Given the description of an element on the screen output the (x, y) to click on. 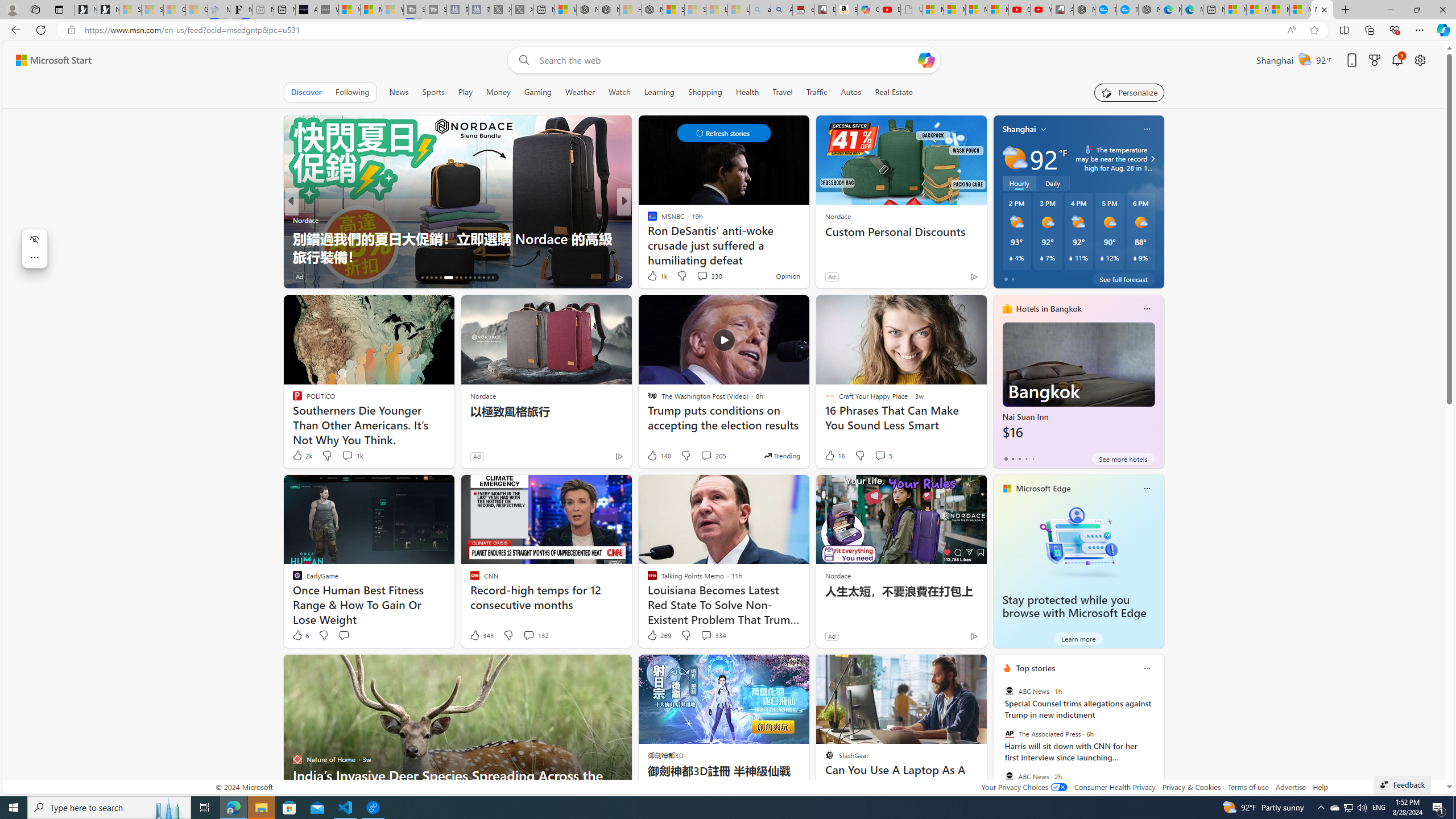
343 Like (480, 634)
Stay protected while you browse with Microsoft Edge (1074, 606)
Dangerous heat to head to Northeast after slamming Midwest (807, 247)
View comments 1 Comment (698, 276)
AutomationID: tab-18 (431, 277)
